Given the description of an element on the screen output the (x, y) to click on. 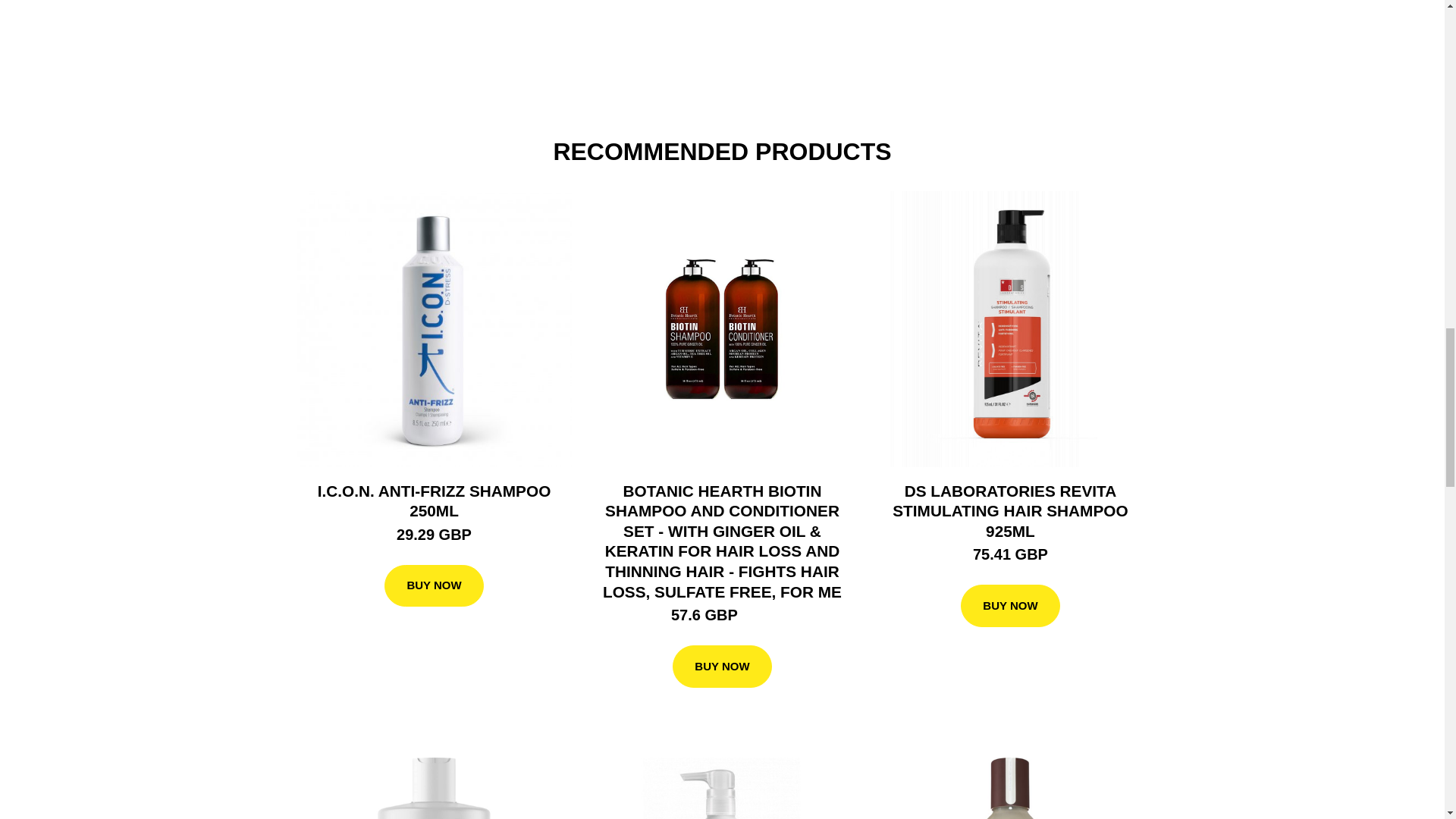
DS LABORATORIES REVITA STIMULATING HAIR SHAMPOO 925ML (1009, 510)
BUY NOW (721, 666)
BUY NOW (1009, 605)
BUY NOW (433, 586)
I.C.O.N. ANTI-FRIZZ SHAMPOO 250ML (434, 501)
